Given the description of an element on the screen output the (x, y) to click on. 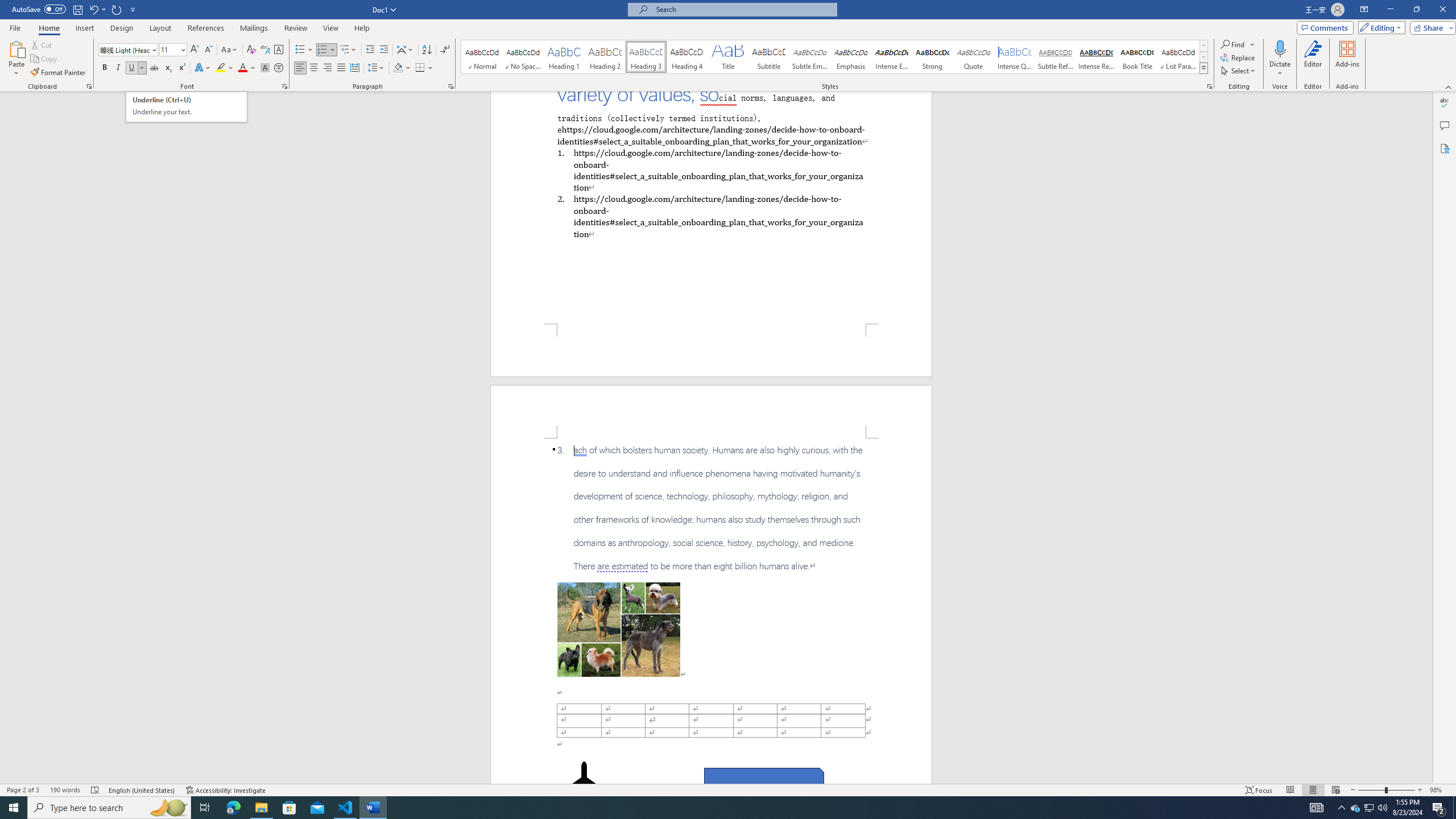
3. (710, 507)
